Given the description of an element on the screen output the (x, y) to click on. 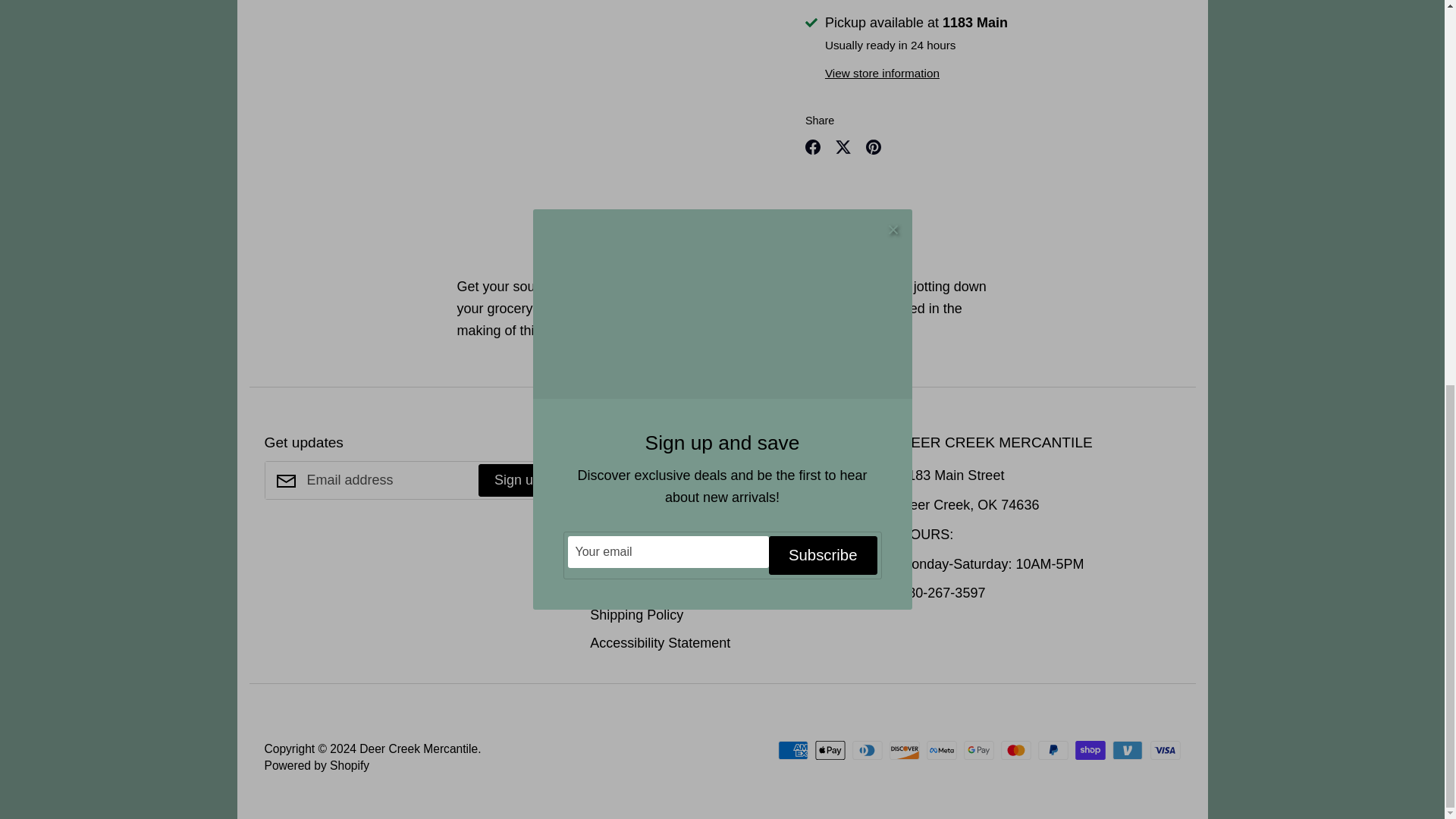
Mastercard (1015, 750)
Google Pay (978, 750)
Shop Pay (1090, 750)
American Express (792, 750)
PayPal (1053, 750)
Discover (904, 750)
Diners Club (866, 750)
Apple Pay (830, 750)
Meta Pay (941, 750)
